Given the description of an element on the screen output the (x, y) to click on. 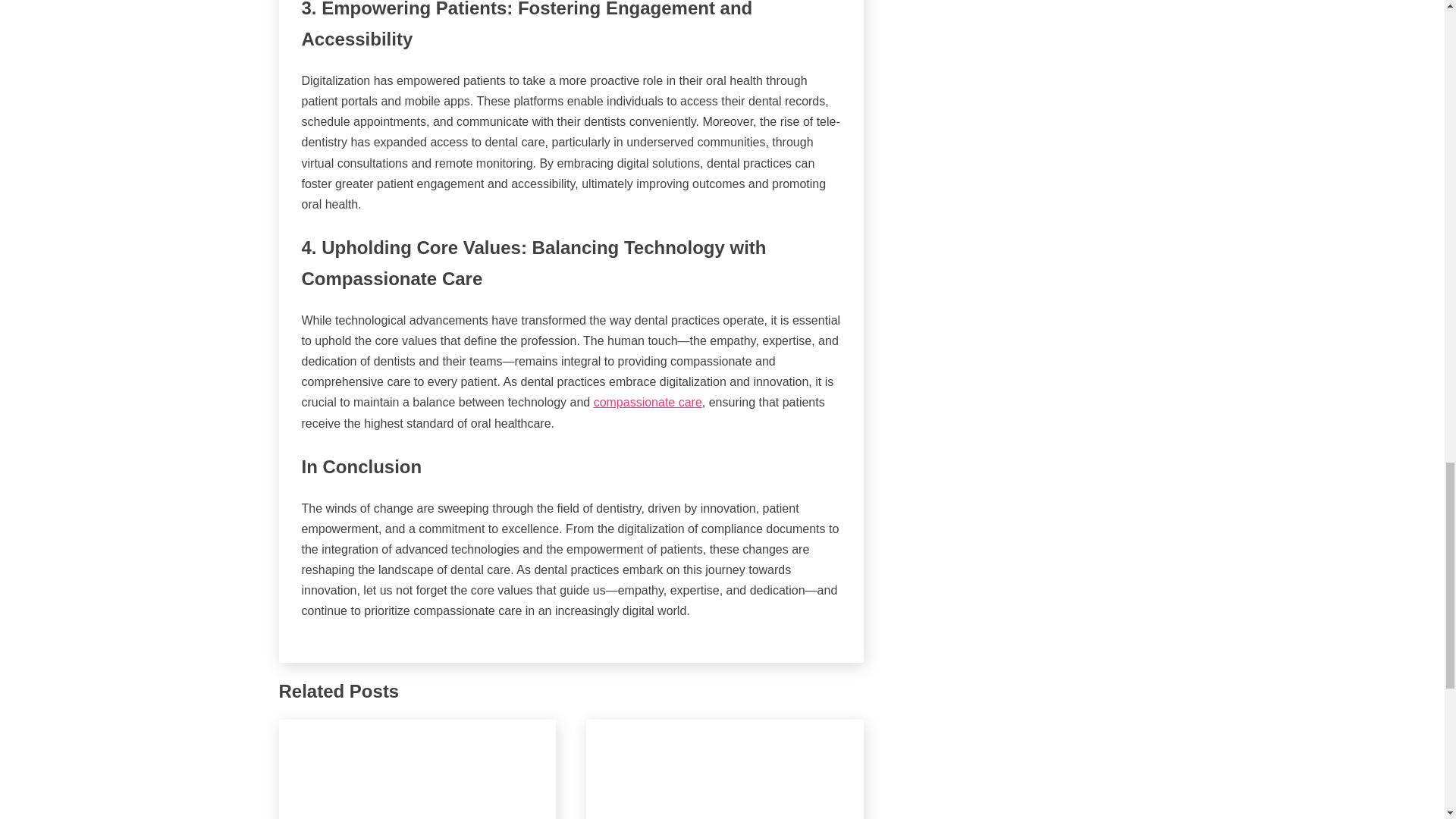
compassionate care (647, 401)
